Given the description of an element on the screen output the (x, y) to click on. 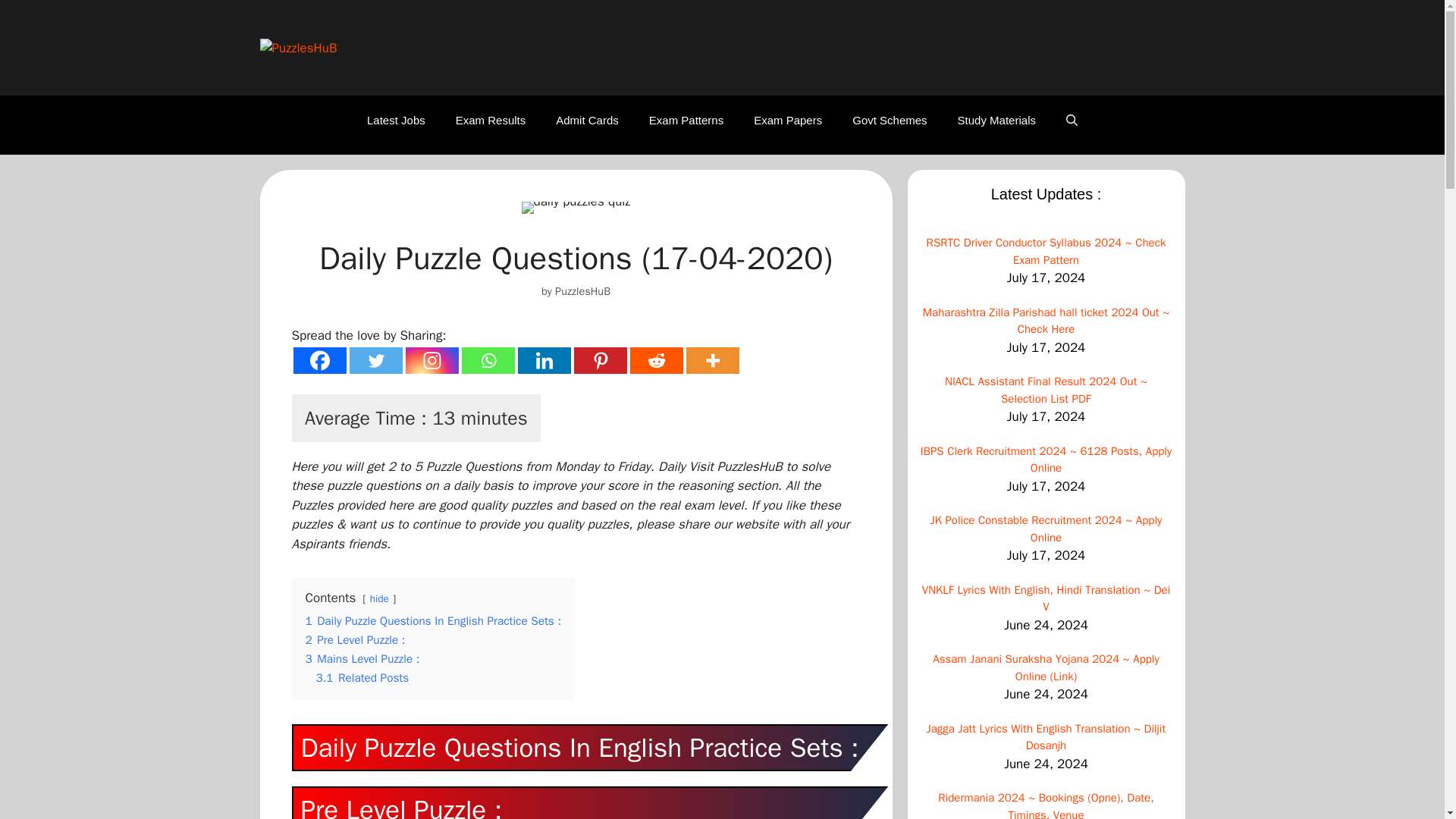
Reddit (655, 360)
3.1 Related Posts (362, 677)
More (711, 360)
1 Daily Puzzle Questions In English Practice Sets : (432, 620)
Exam Papers (787, 119)
3 Mains Level Puzzle : (361, 658)
Exam Results (491, 119)
Facebook (319, 360)
View all posts by PuzzlesHuB (582, 291)
hide (378, 598)
